Given the description of an element on the screen output the (x, y) to click on. 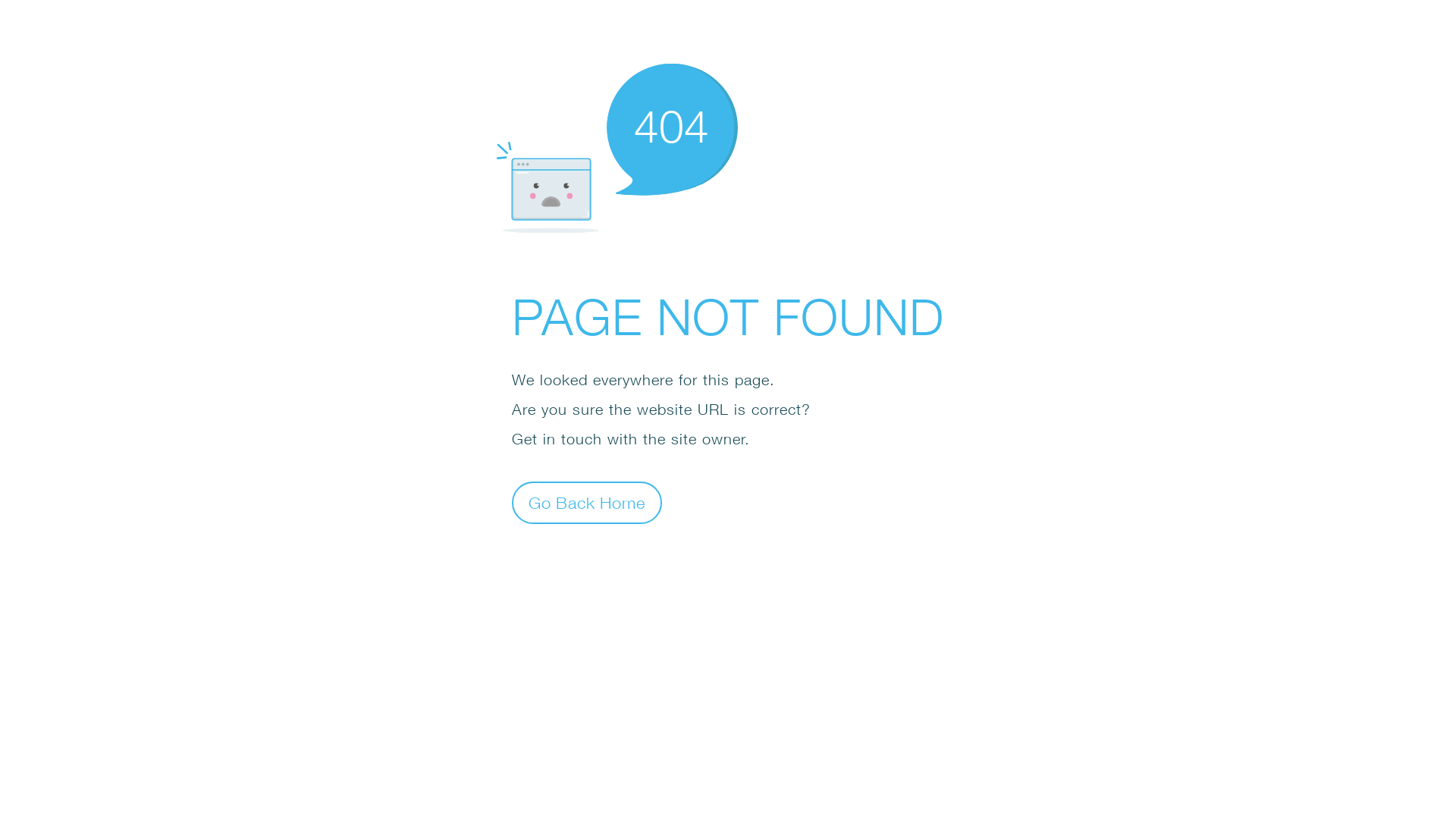
Go Back Home Element type: text (586, 502)
